Given the description of an element on the screen output the (x, y) to click on. 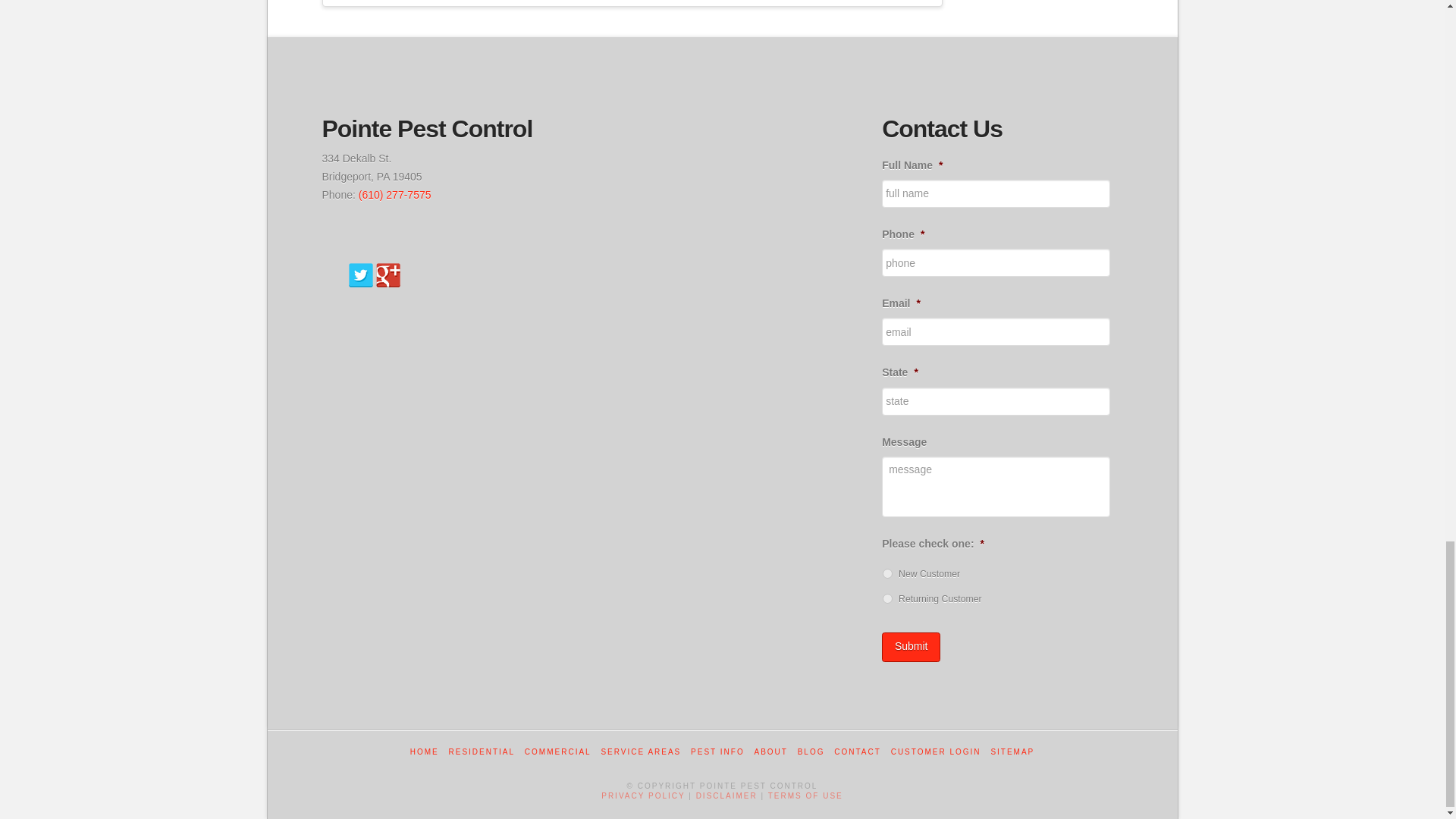
Submit (911, 646)
New Customer (887, 573)
Returning Customer (887, 598)
